Given the description of an element on the screen output the (x, y) to click on. 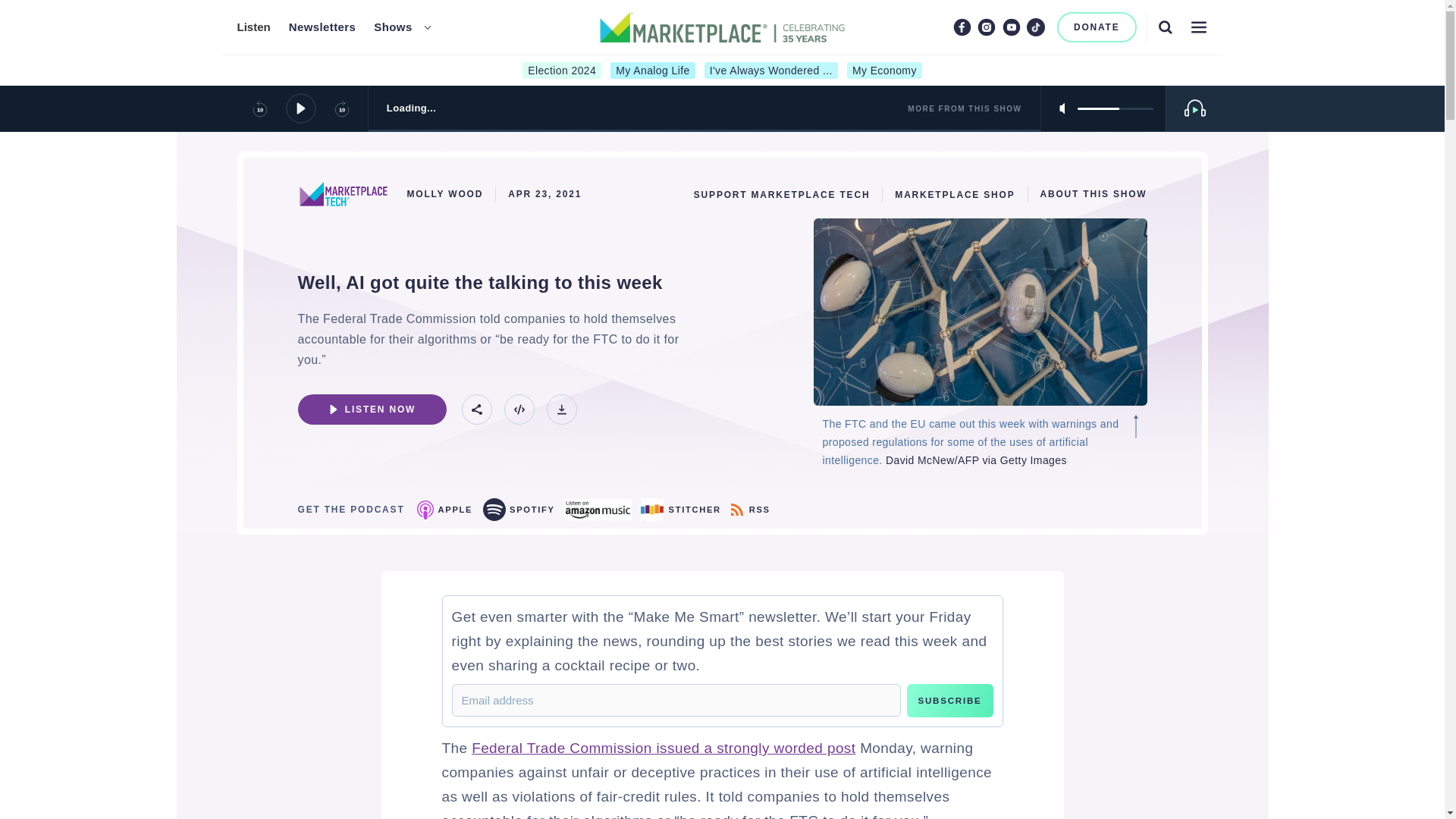
Search (1164, 27)
TikTok (1035, 27)
Shows (393, 26)
Newsletters (322, 27)
Facebook (962, 27)
Youtube (1011, 27)
volume (1115, 108)
Download Track (561, 409)
Menu (1198, 27)
Listen (252, 26)
DONATE (1097, 27)
5 (1115, 108)
Instagram (985, 27)
Listen Now (371, 409)
